Given the description of an element on the screen output the (x, y) to click on. 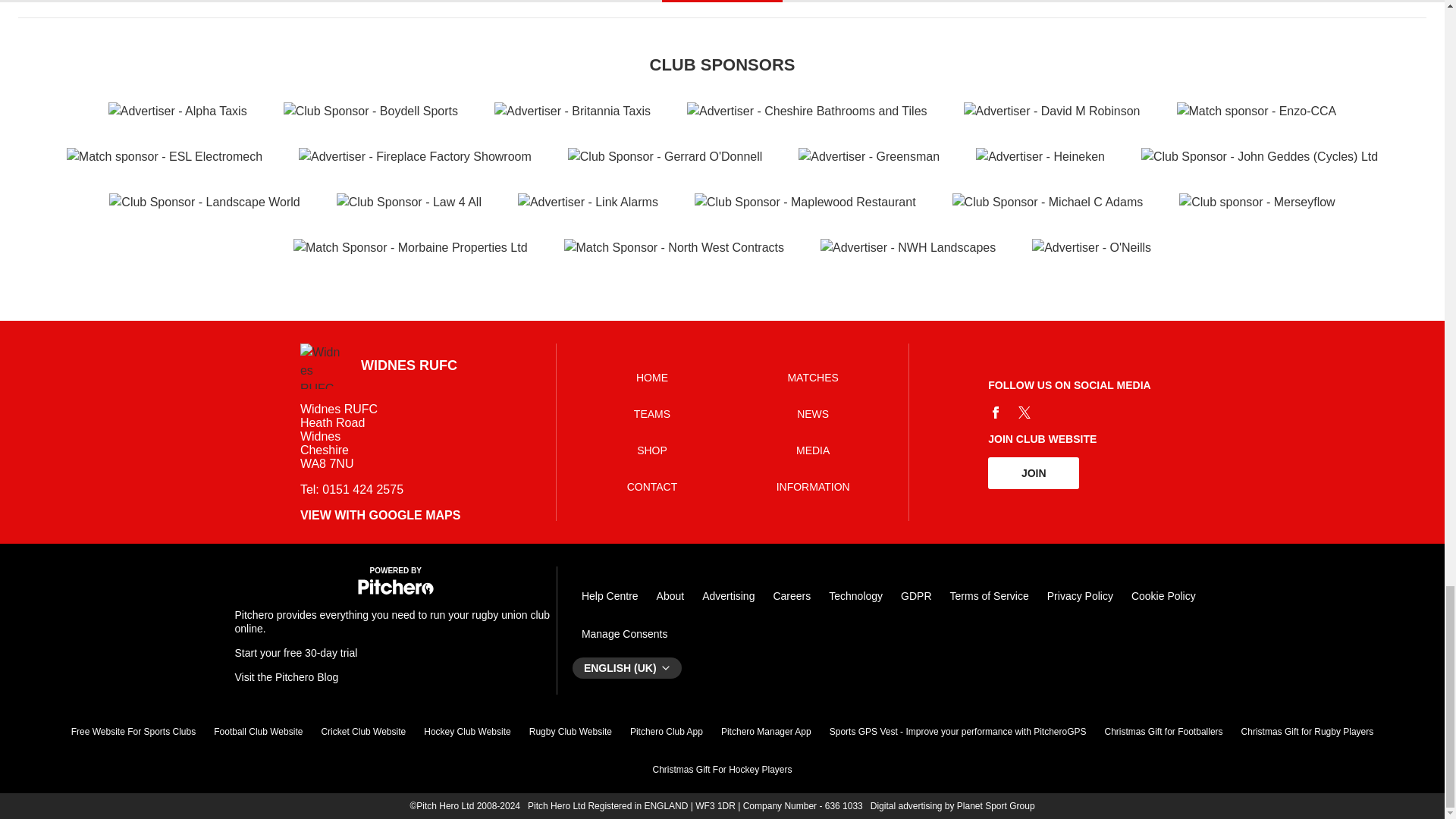
Club Sponsor - Boydell Sports (370, 111)
Match sponsor - Enzo-CCA (1256, 111)
Advertiser - Fireplace Factory Showroom (414, 157)
Advertiser - Britannia Taxis (572, 111)
Advertiser - David M Robinson (1051, 111)
Advertiser - Cheshire Bathrooms and Tiles (807, 111)
Match sponsor - ESL Electromech (164, 157)
Advertiser - Heineken (1040, 157)
Advertiser - Greensman (868, 157)
Advertiser - Alpha Taxis (177, 111)
